Given the description of an element on the screen output the (x, y) to click on. 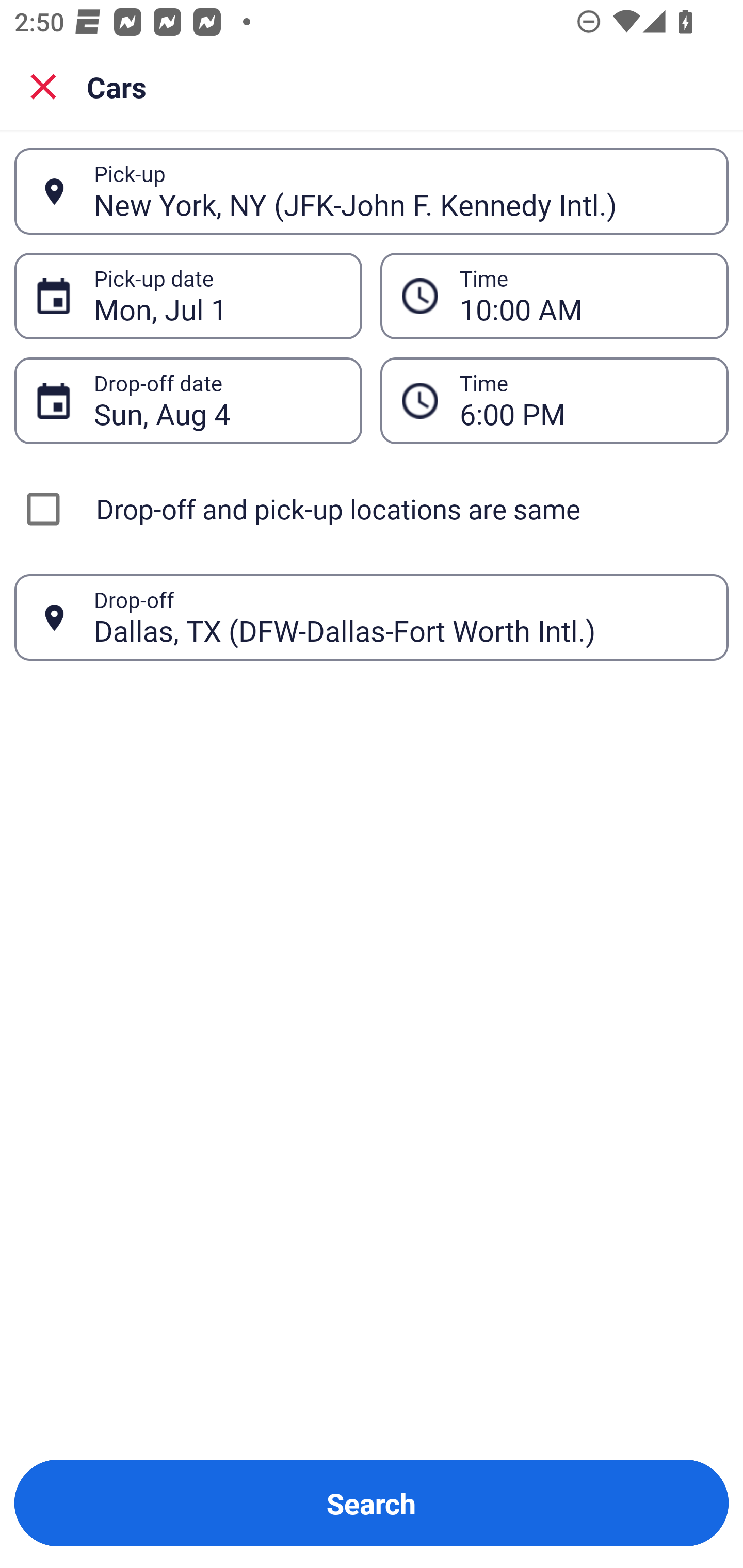
Close search screen (43, 86)
New York, NY (JFK-John F. Kennedy Intl.) Pick-up (371, 191)
New York, NY (JFK-John F. Kennedy Intl.) (399, 191)
Mon, Jul 1 Pick-up date (188, 295)
10:00 AM (554, 295)
Mon, Jul 1 (216, 296)
10:00 AM (582, 296)
Sun, Aug 4 Drop-off date (188, 400)
6:00 PM (554, 400)
Sun, Aug 4 (216, 400)
6:00 PM (582, 400)
Drop-off and pick-up locations are same (371, 508)
Dallas, TX (DFW-Dallas-Fort Worth Intl.) Drop-off (371, 616)
Dallas, TX (DFW-Dallas-Fort Worth Intl.) (399, 616)
Search Button Search (371, 1502)
